Given the description of an element on the screen output the (x, y) to click on. 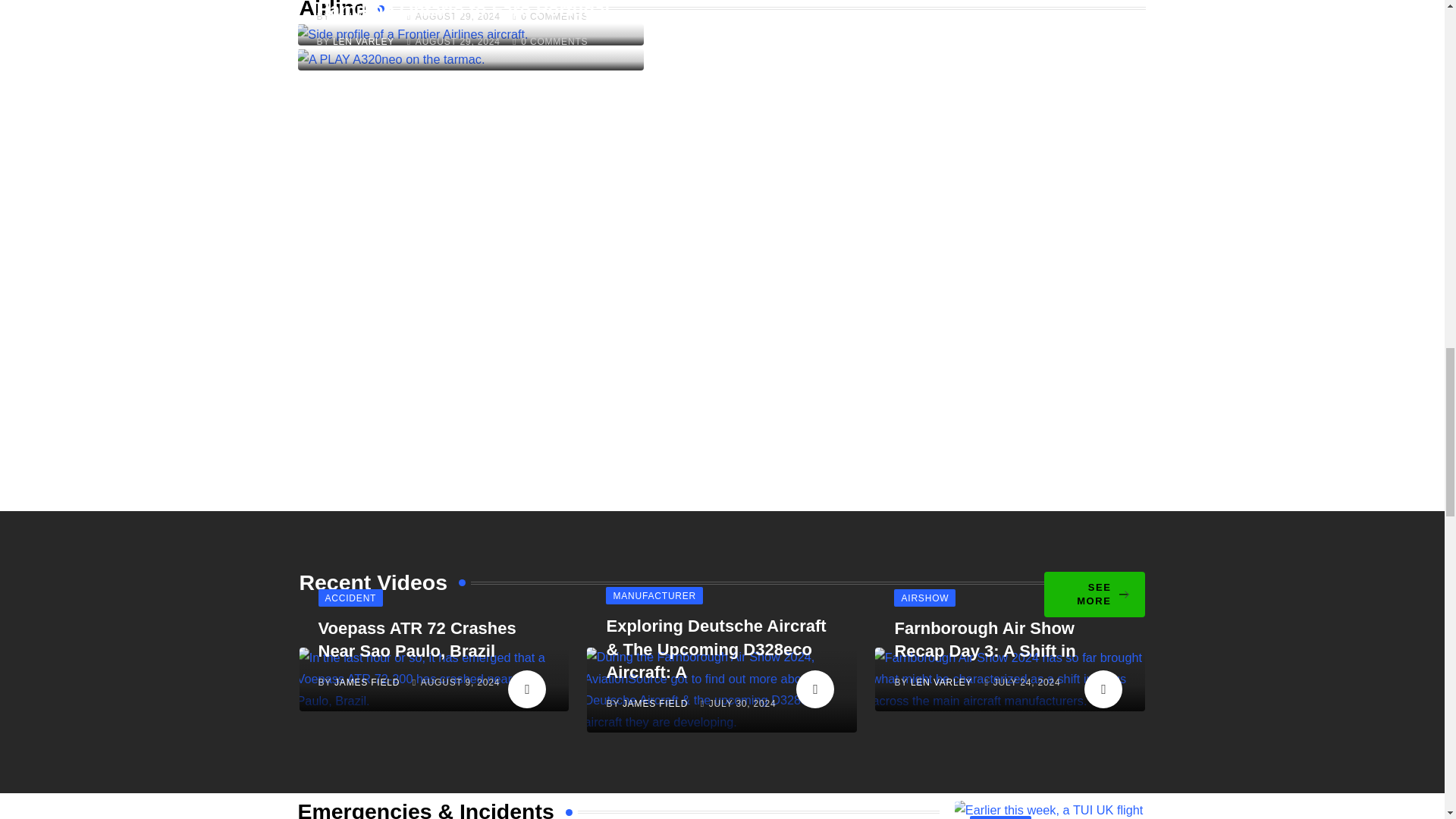
Posts by James Field (366, 682)
Posts by James Field (655, 703)
Posts by Len Varley (363, 16)
Posts by Len Varley (363, 41)
Posts by Len Varley (941, 682)
